Given the description of an element on the screen output the (x, y) to click on. 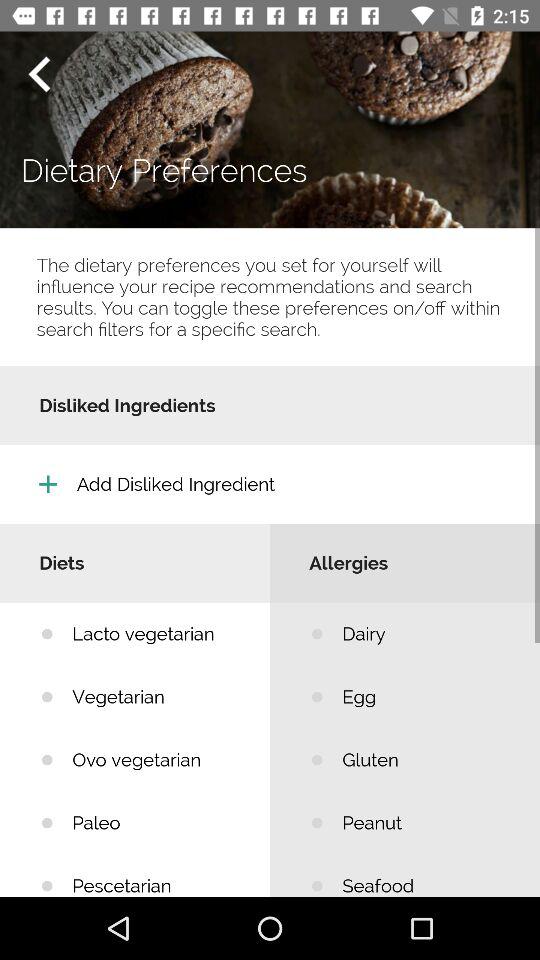
turn on icon below egg (426, 759)
